Given the description of an element on the screen output the (x, y) to click on. 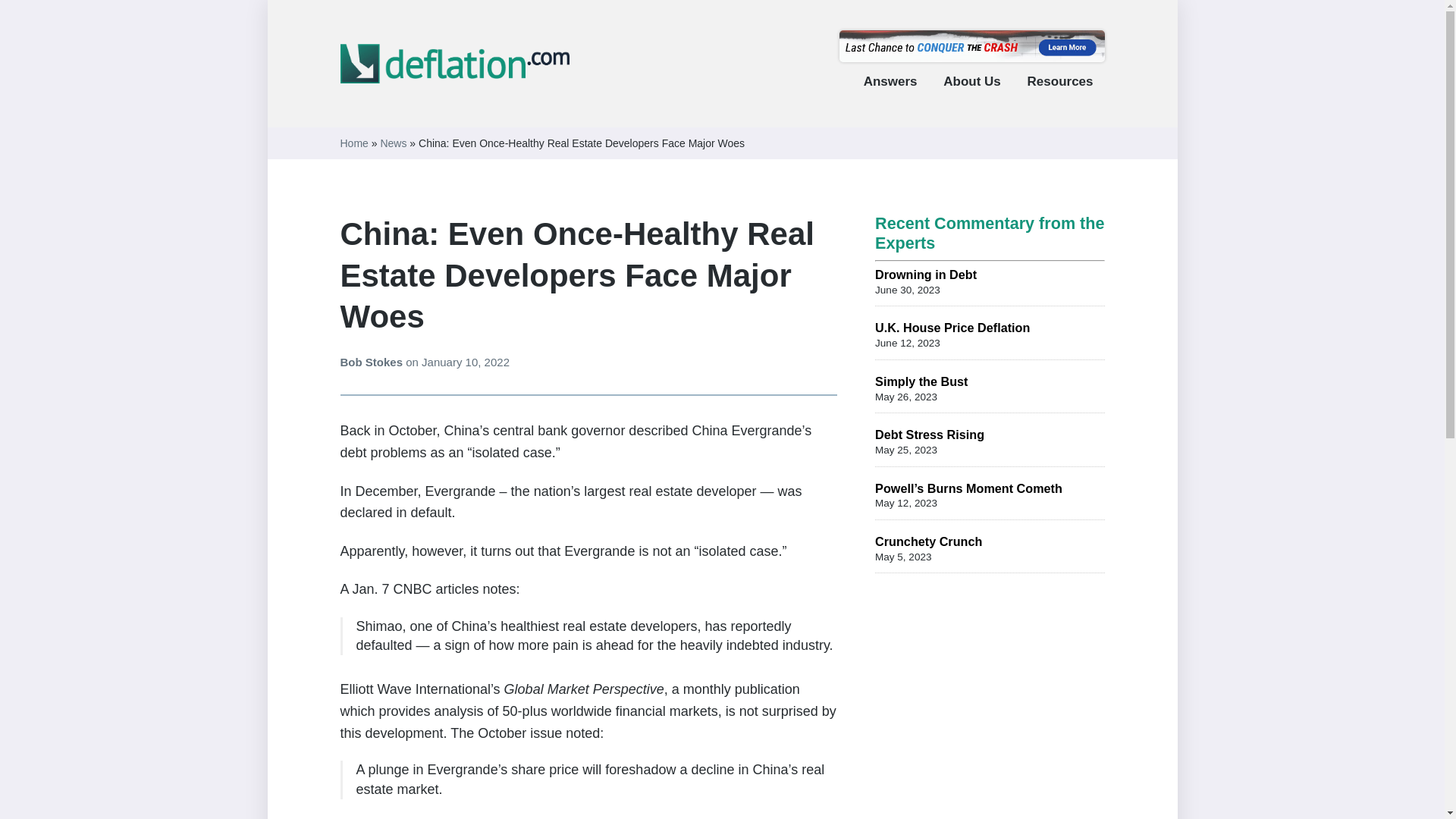
Home (353, 143)
Bob Stokes (372, 361)
News (393, 143)
Deflation (381, 121)
